Given the description of an element on the screen output the (x, y) to click on. 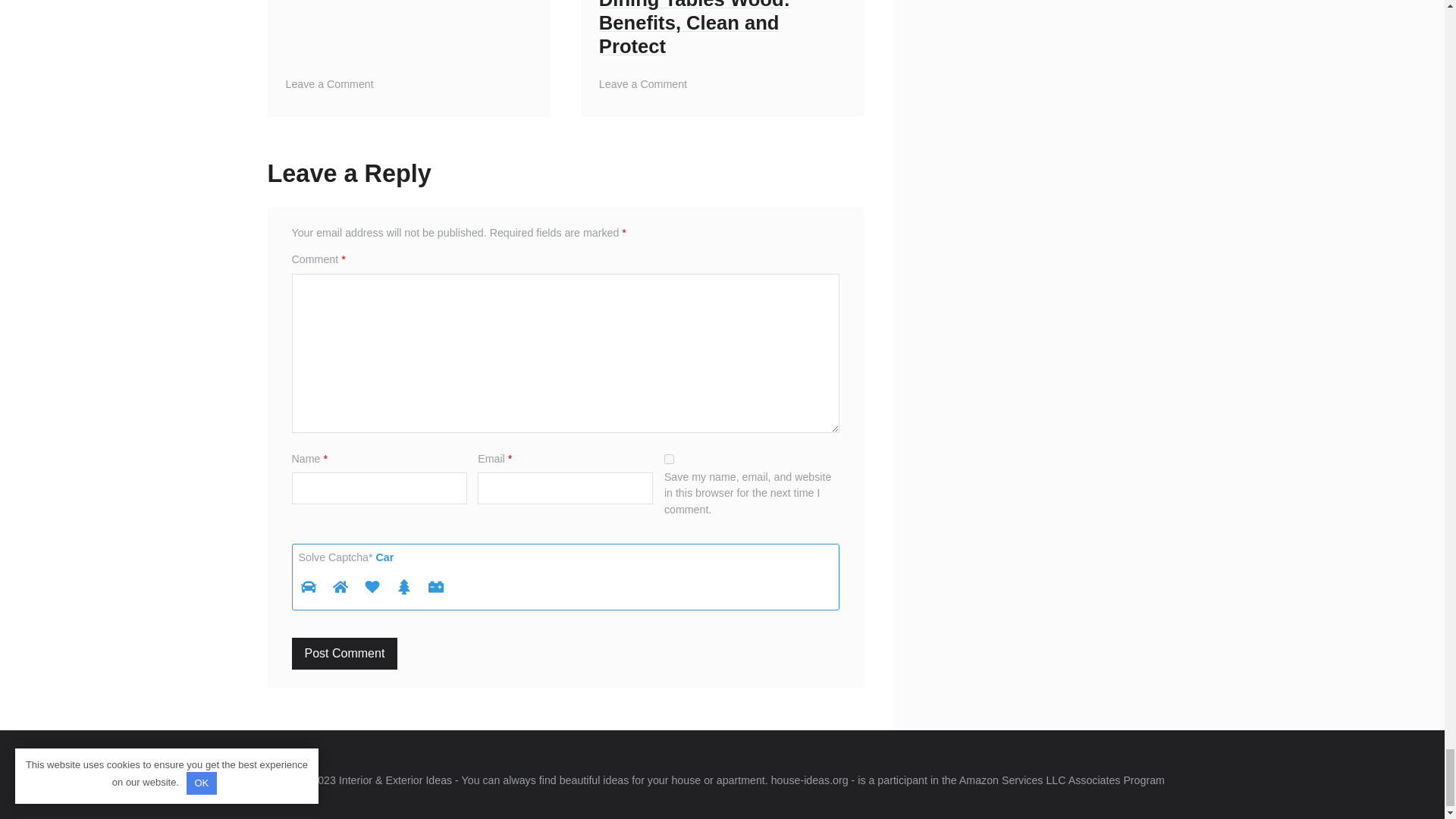
yes (329, 83)
Post Comment (668, 459)
